Given the description of an element on the screen output the (x, y) to click on. 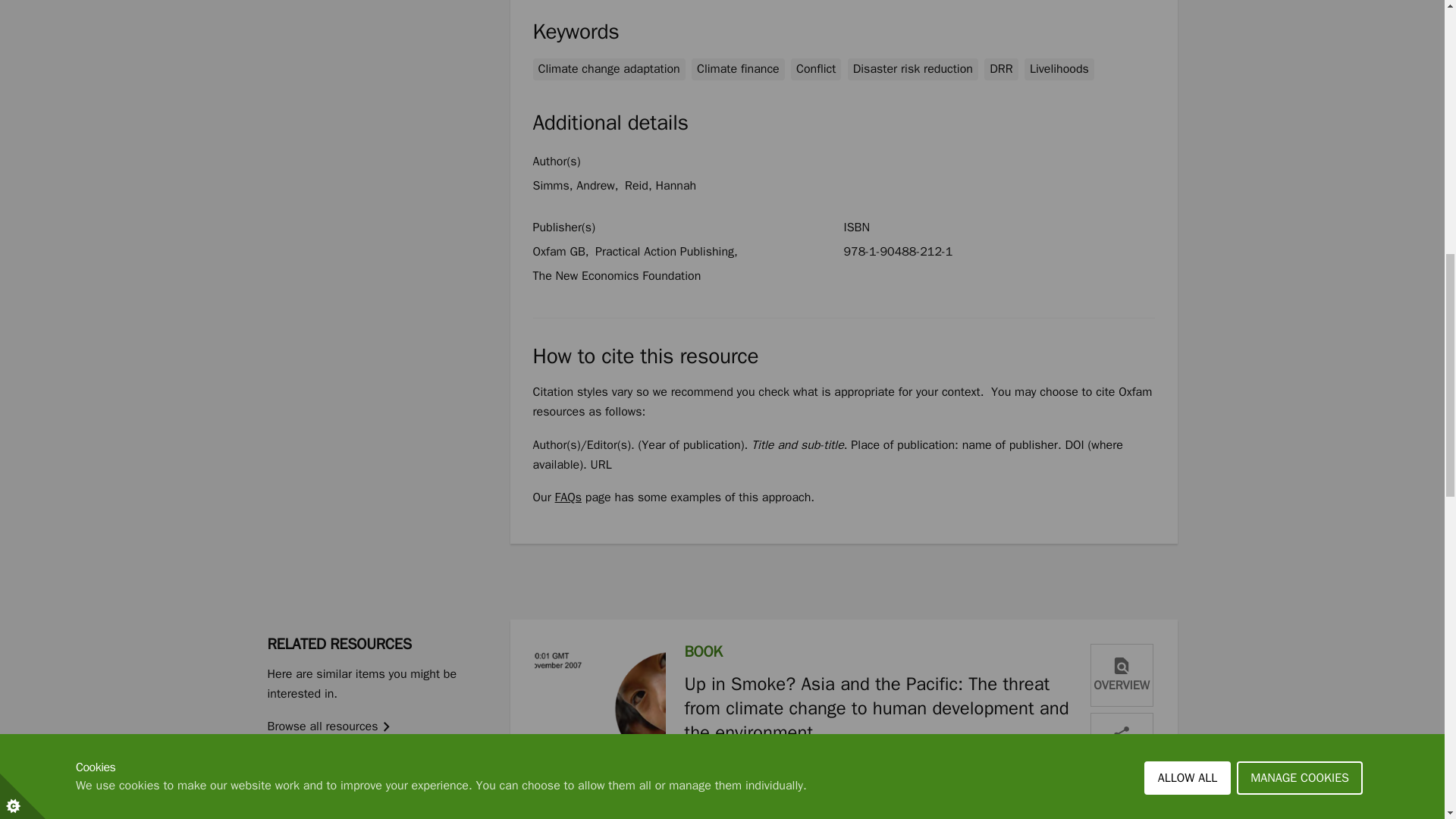
ALLOW ALL (1187, 17)
MANAGE COOKIES (1299, 9)
